Given the description of an element on the screen output the (x, y) to click on. 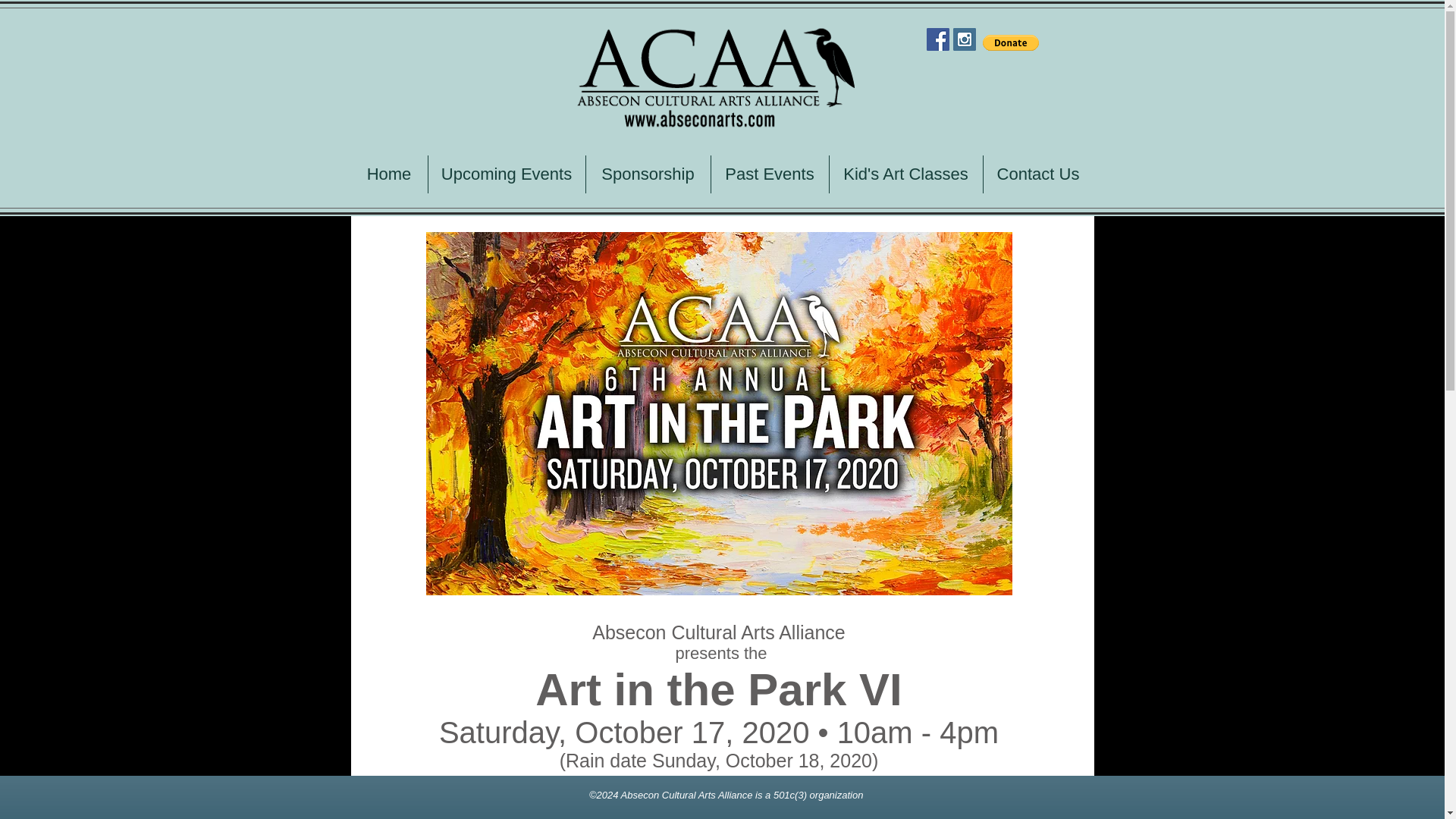
ACAALogoTestB.png (715, 76)
Home (388, 174)
Contact Us (1037, 174)
Past Events (769, 174)
Kid's Art Classes (904, 174)
Sponsorship (647, 174)
